Given the description of an element on the screen output the (x, y) to click on. 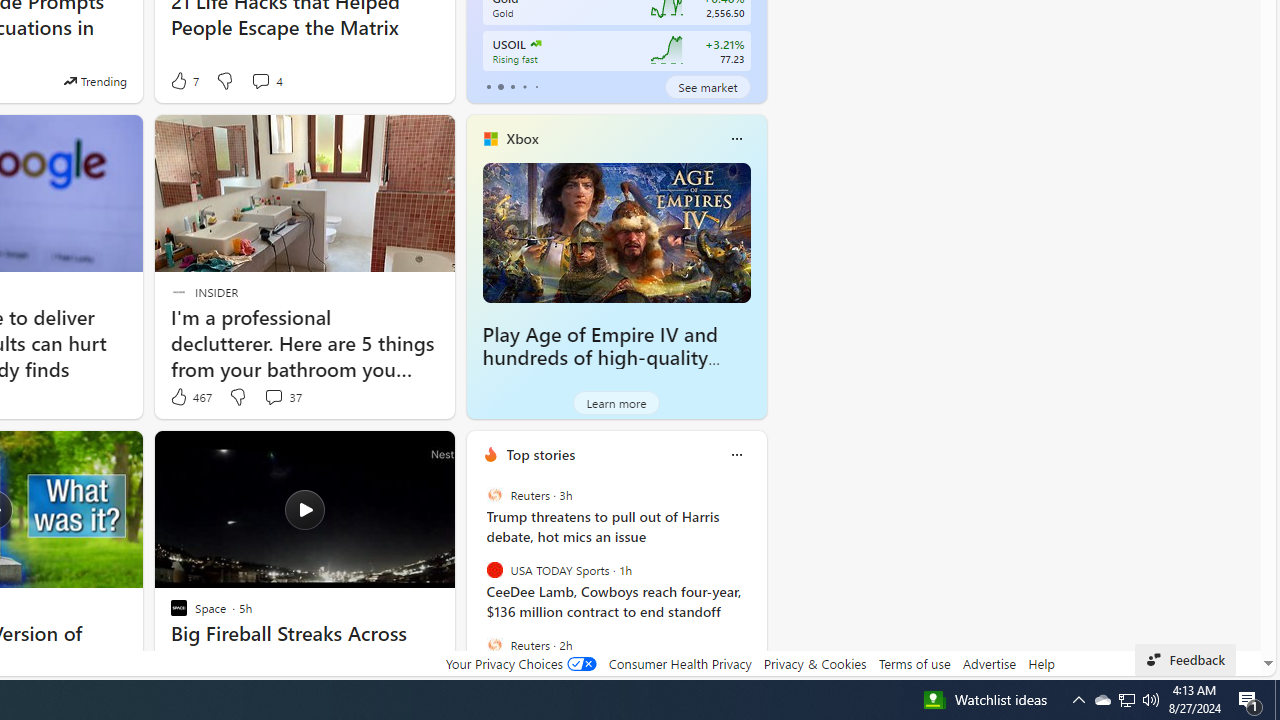
View comments 37 Comment (281, 397)
tab-3 (524, 86)
Top stories (540, 454)
tab-0 (488, 86)
See market (708, 86)
View comments 4 Comment (260, 80)
Xbox (521, 139)
467 Like (190, 397)
tab-4 (535, 86)
USA TODAY Sports (494, 570)
